Given the description of an element on the screen output the (x, y) to click on. 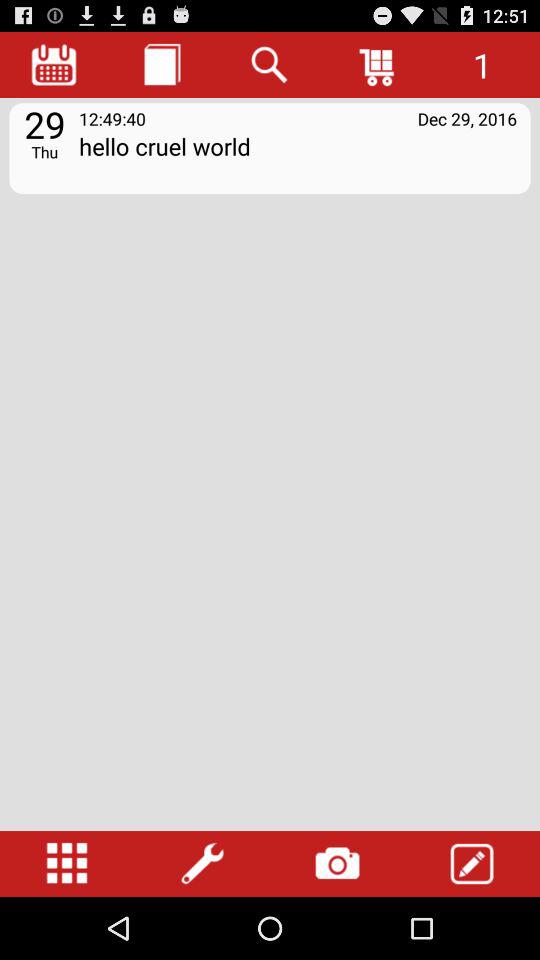
press item at the bottom right corner (472, 863)
